Given the description of an element on the screen output the (x, y) to click on. 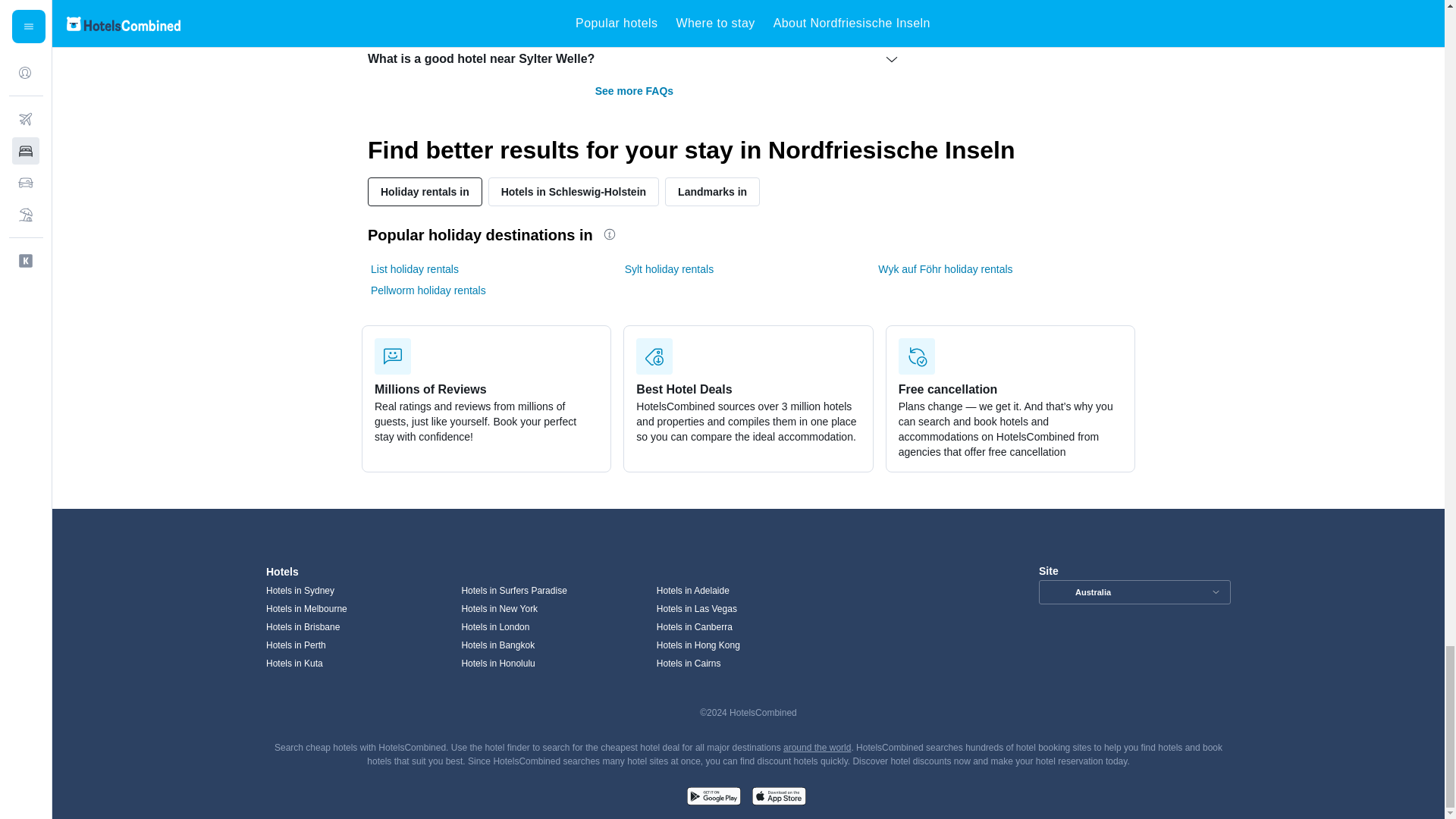
Download on the App Store (778, 797)
Get it on Google Play (713, 797)
